Given the description of an element on the screen output the (x, y) to click on. 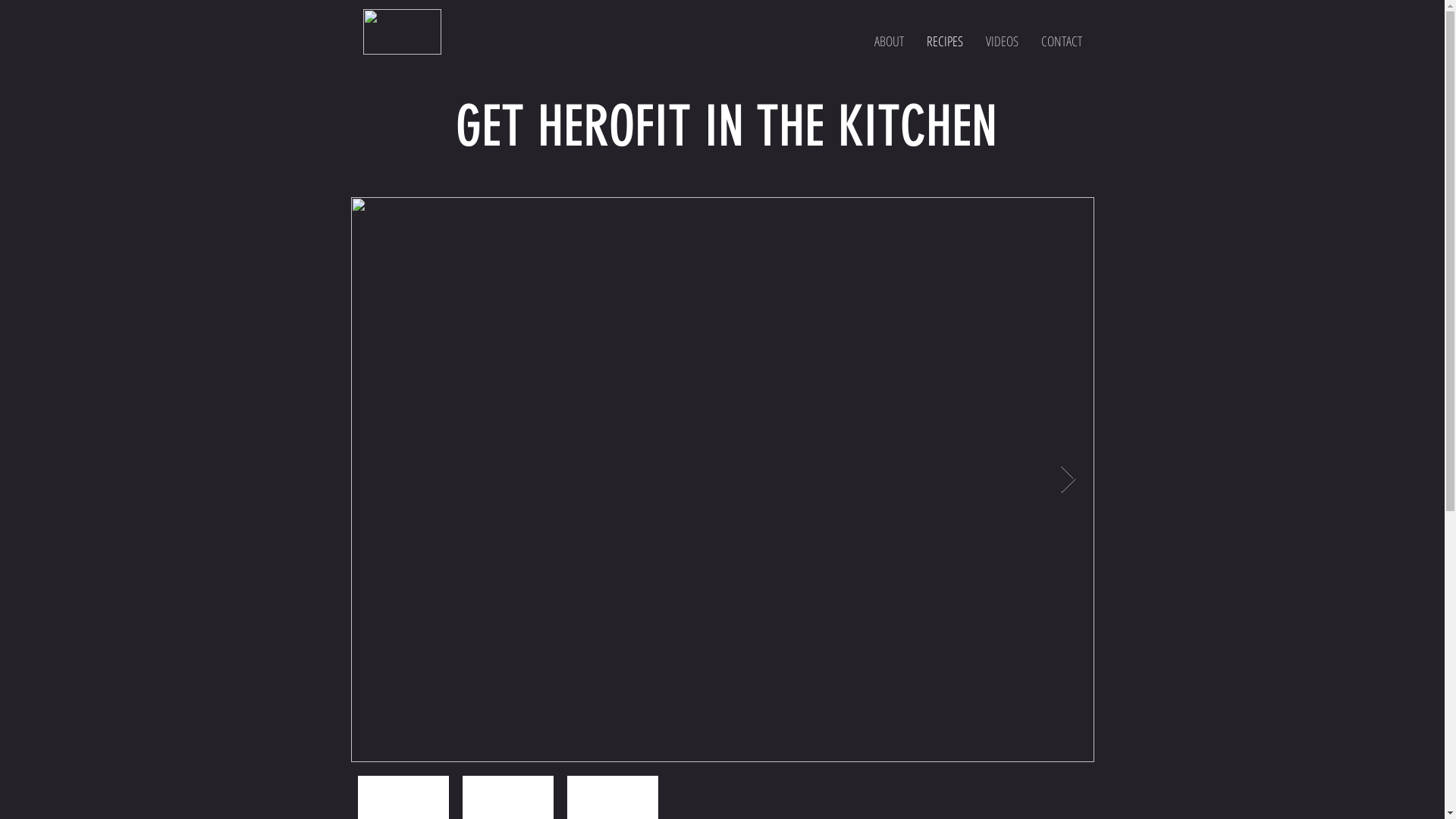
CONTACT Element type: text (1061, 40)
RECIPES Element type: text (944, 40)
VIDEOS Element type: text (1001, 40)
ABOUT Element type: text (888, 40)
